Given the description of an element on the screen output the (x, y) to click on. 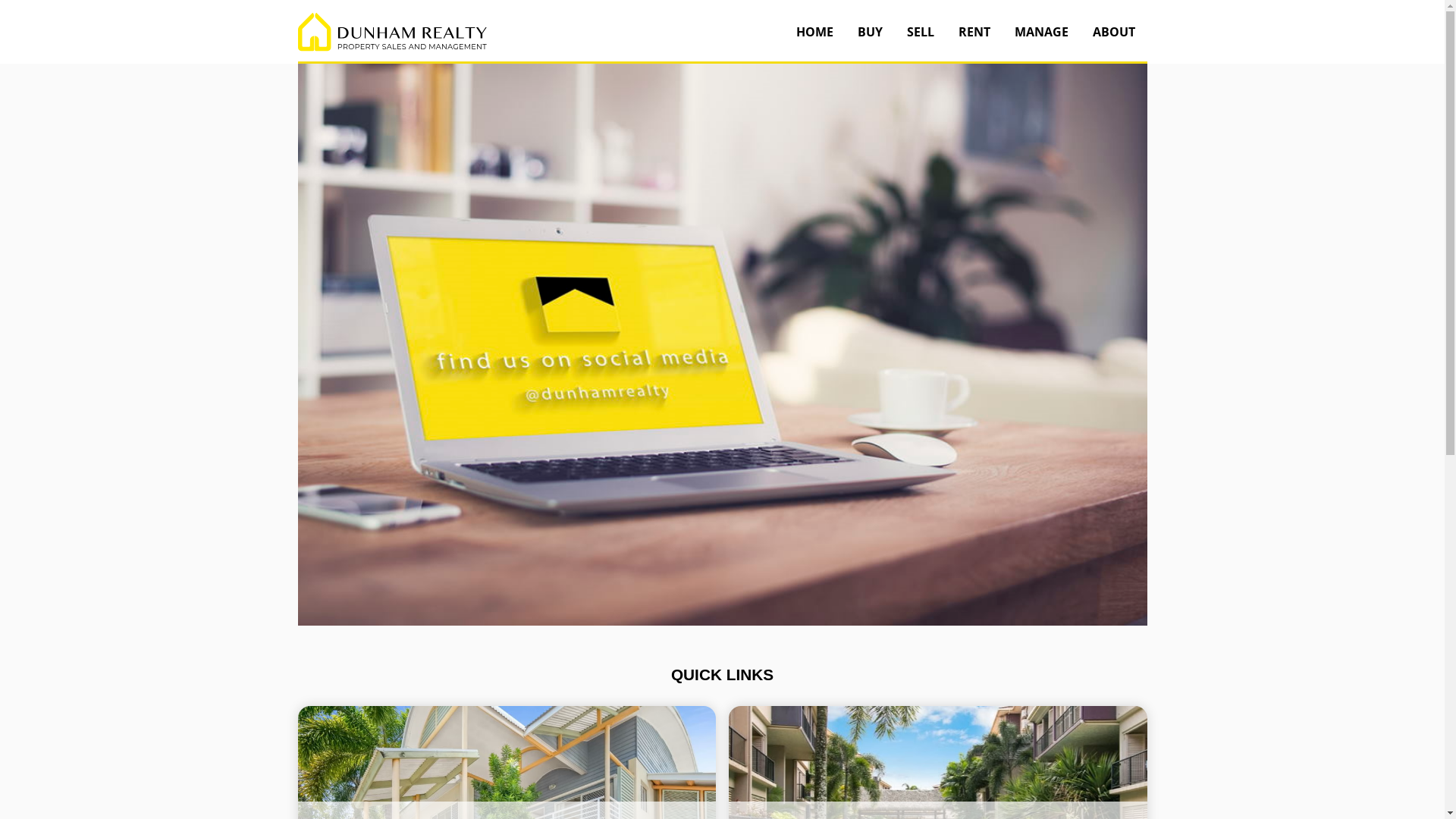
BUY Element type: text (869, 31)
HOME Element type: text (814, 31)
MANAGE Element type: text (1041, 31)
SELL Element type: text (920, 31)
RENT Element type: text (974, 31)
ABOUT Element type: text (1112, 31)
